Given the description of an element on the screen output the (x, y) to click on. 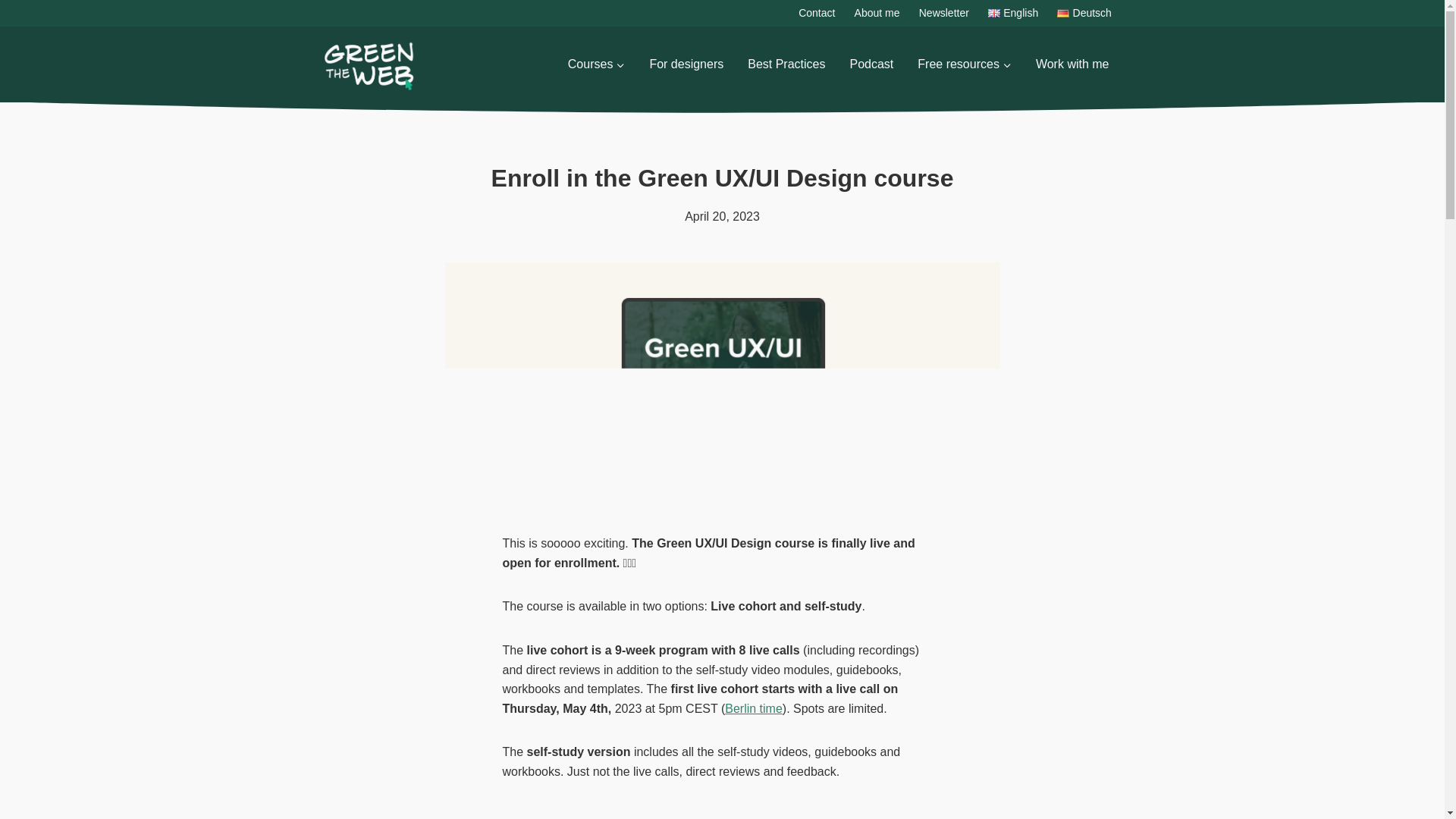
Contact (816, 13)
Free resources (964, 64)
English (1012, 13)
Podcast (871, 64)
Courses (596, 64)
Work with me (1072, 64)
For designers (686, 64)
Best Practices (786, 64)
Newsletter (943, 13)
Berlin time (754, 707)
